Given the description of an element on the screen output the (x, y) to click on. 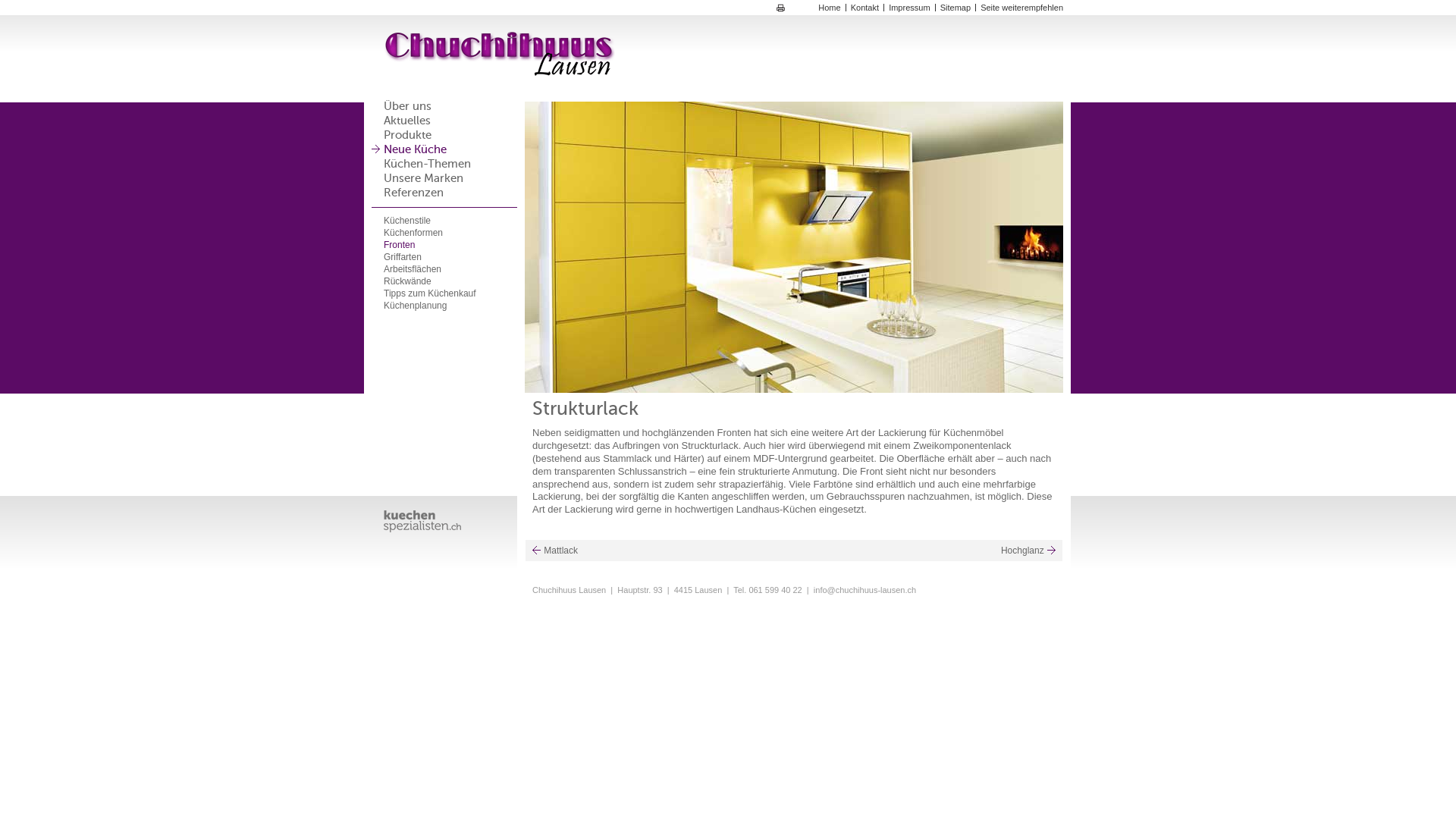
Seite weiterempfehlen Element type: text (1021, 7)
Unsere Marken Element type: text (423, 179)
  Element type: text (427, 521)
Hochglanz Element type: text (1028, 550)
Mattlack Element type: text (554, 550)
Sitemap Element type: text (955, 7)
Produkte Element type: text (407, 135)
Impressum Element type: text (908, 7)
Referenzen Element type: text (413, 193)
Kontakt Element type: text (864, 7)
Home Element type: text (829, 7)
Aktuelles Element type: text (406, 121)
Griffarten Element type: text (402, 256)
Fronten Element type: text (398, 244)
info@chuchihuus-lausen.ch Element type: text (864, 589)
